Given the description of an element on the screen output the (x, y) to click on. 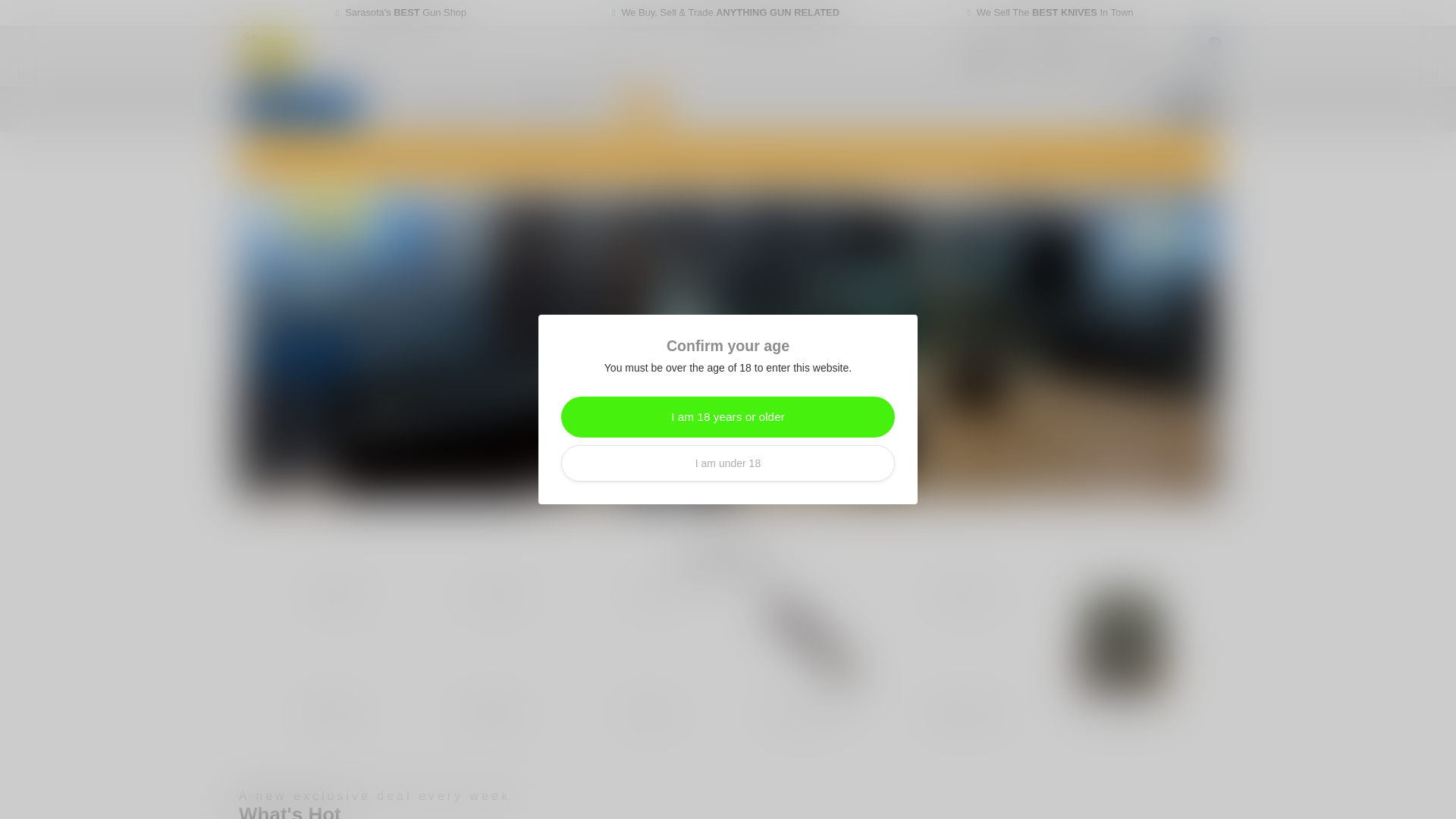
Blogs Our stores Customer service DEALS (727, 107)
Medford Knives (806, 643)
My account (1049, 55)
Wish List (1130, 55)
Ammunition (490, 643)
Wish List (1130, 55)
Heretic Knives (965, 643)
1 (968, 244)
0 (1198, 55)
Custom 1911 Grips (1122, 643)
Handguns (331, 643)
Pro-Tech (647, 643)
